Given the description of an element on the screen output the (x, y) to click on. 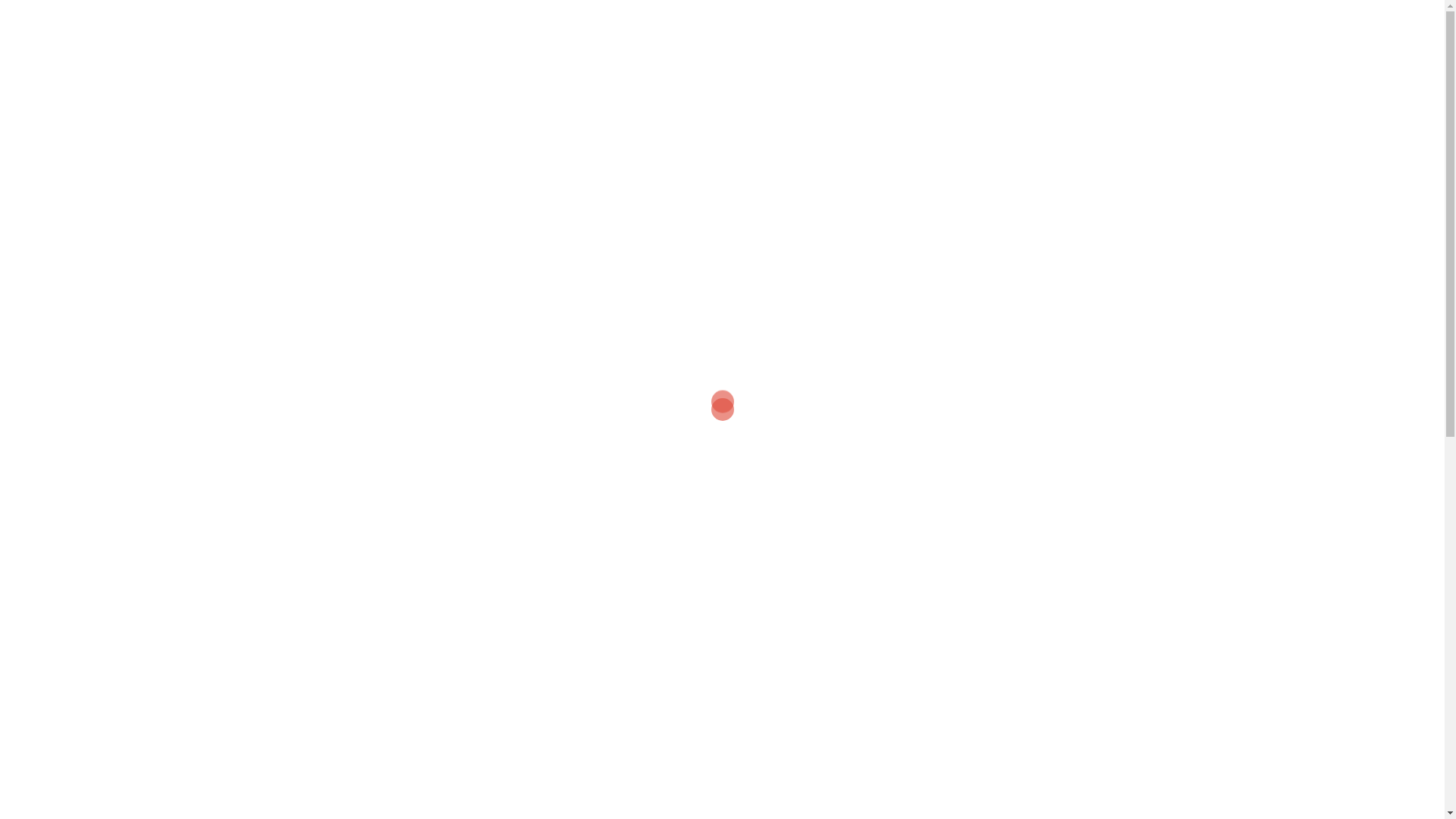
Projects Element type: text (887, 25)
About Us Element type: text (1121, 25)
info@arrowconstruction.ca Element type: text (396, 511)
Arrow Construction Element type: hover (350, 25)
Contact Us Element type: text (1048, 25)
Perfectionism... Element type: hover (1045, 481)
Services Element type: text (826, 25)
Privacy Policy Element type: text (964, 25)
Our Mission Element type: text (755, 25)
